Given the description of an element on the screen output the (x, y) to click on. 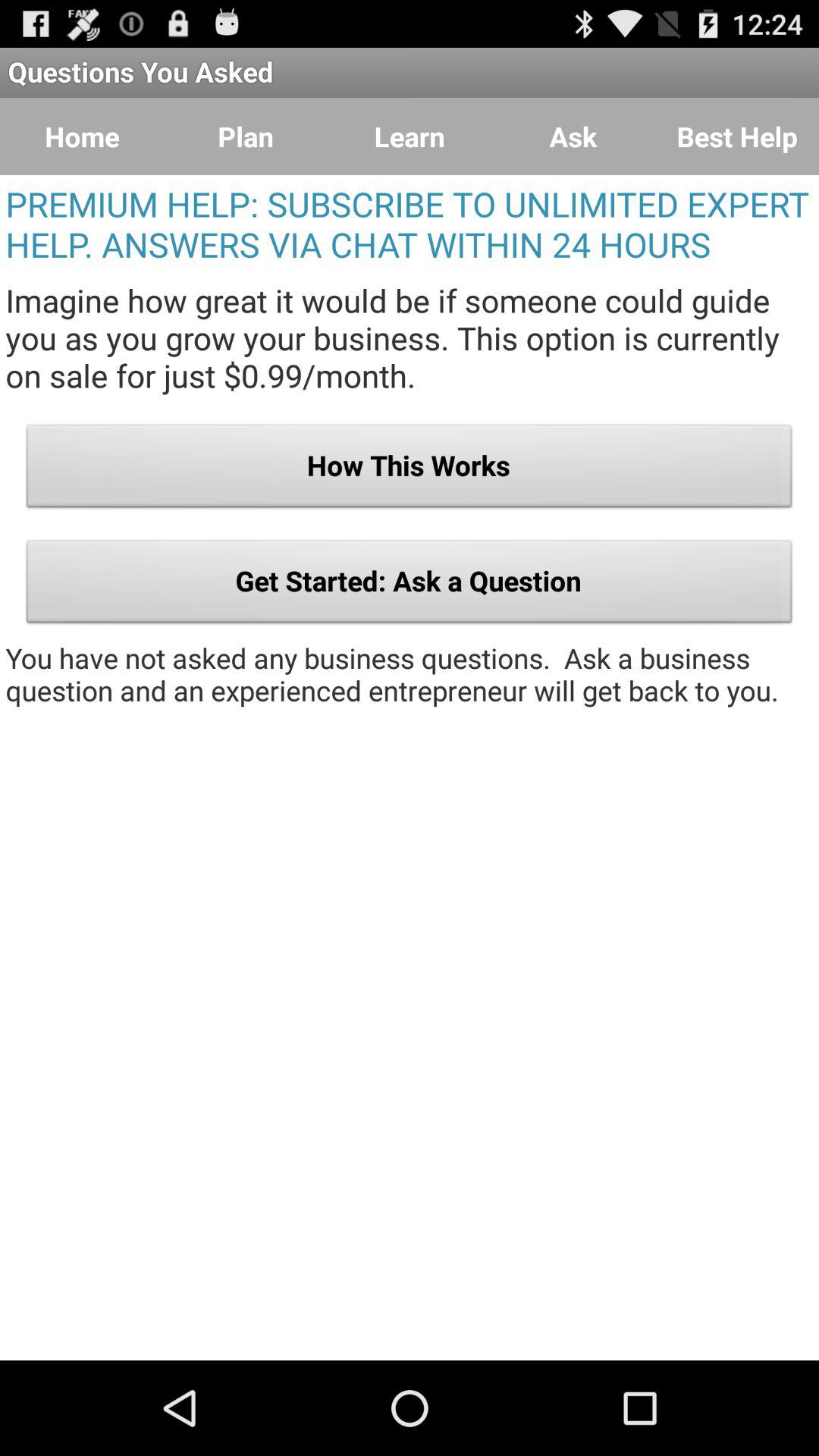
jump until the home (81, 136)
